Given the description of an element on the screen output the (x, y) to click on. 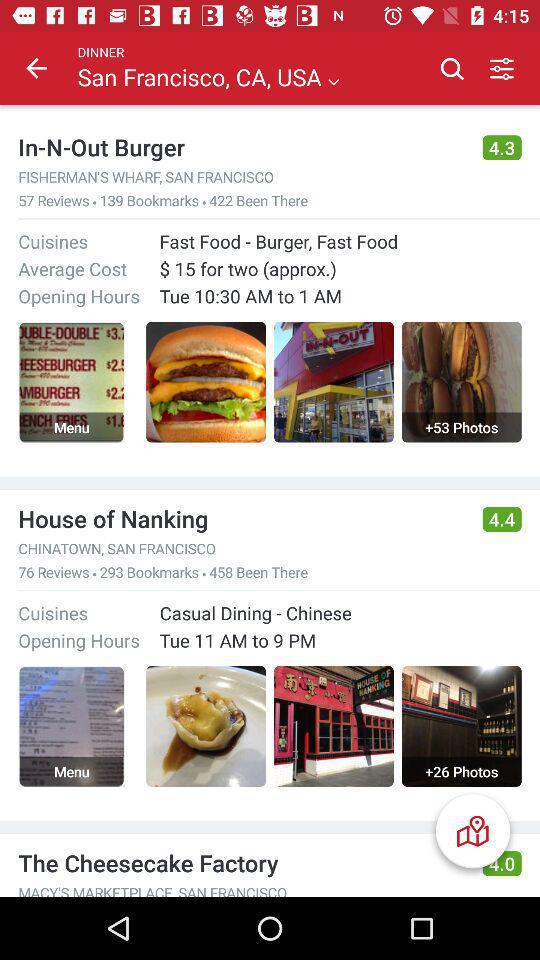
jump to the casual dining - chinese item (255, 612)
